Given the description of an element on the screen output the (x, y) to click on. 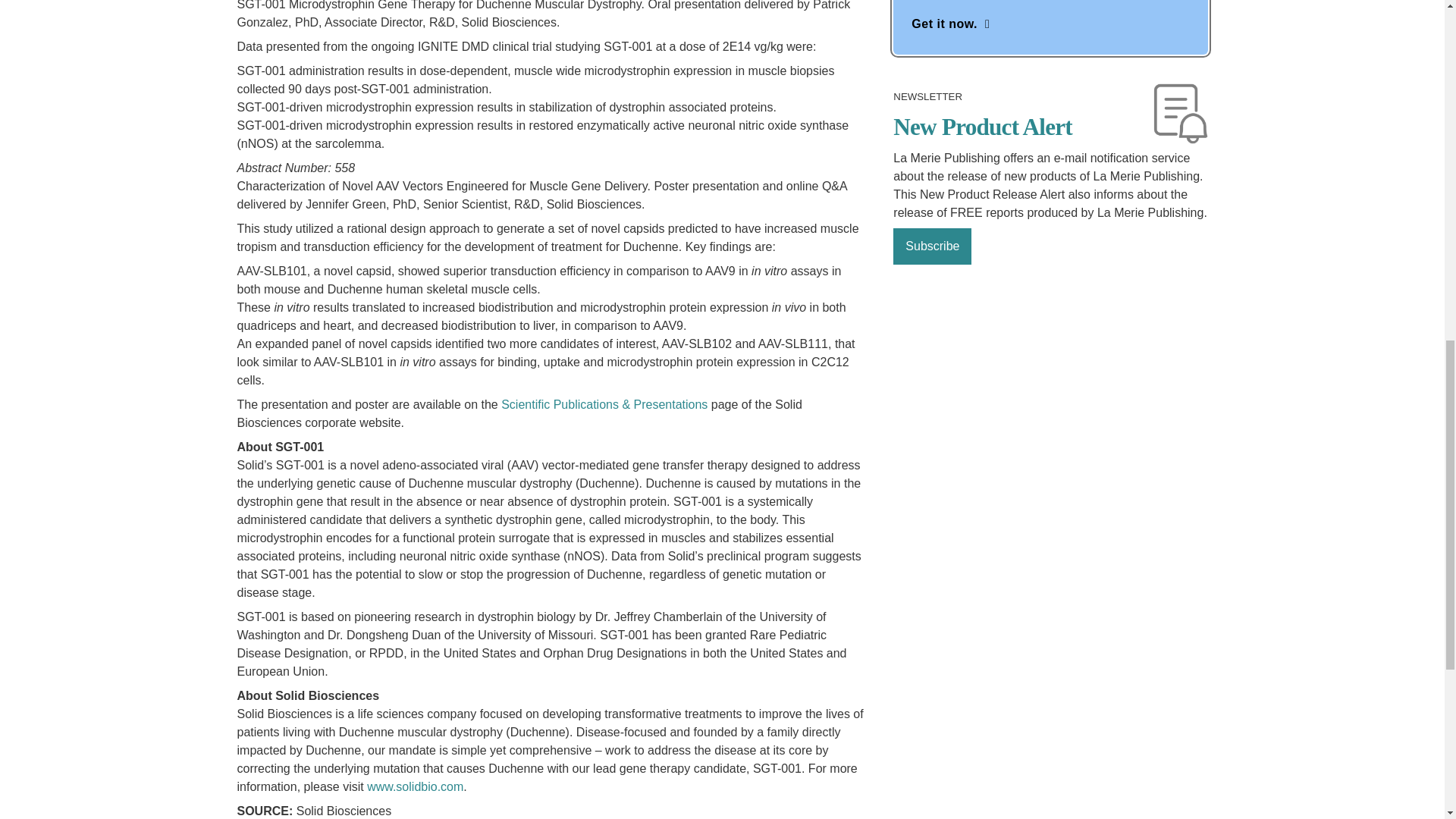
www.solidbio.com (414, 786)
